Given the description of an element on the screen output the (x, y) to click on. 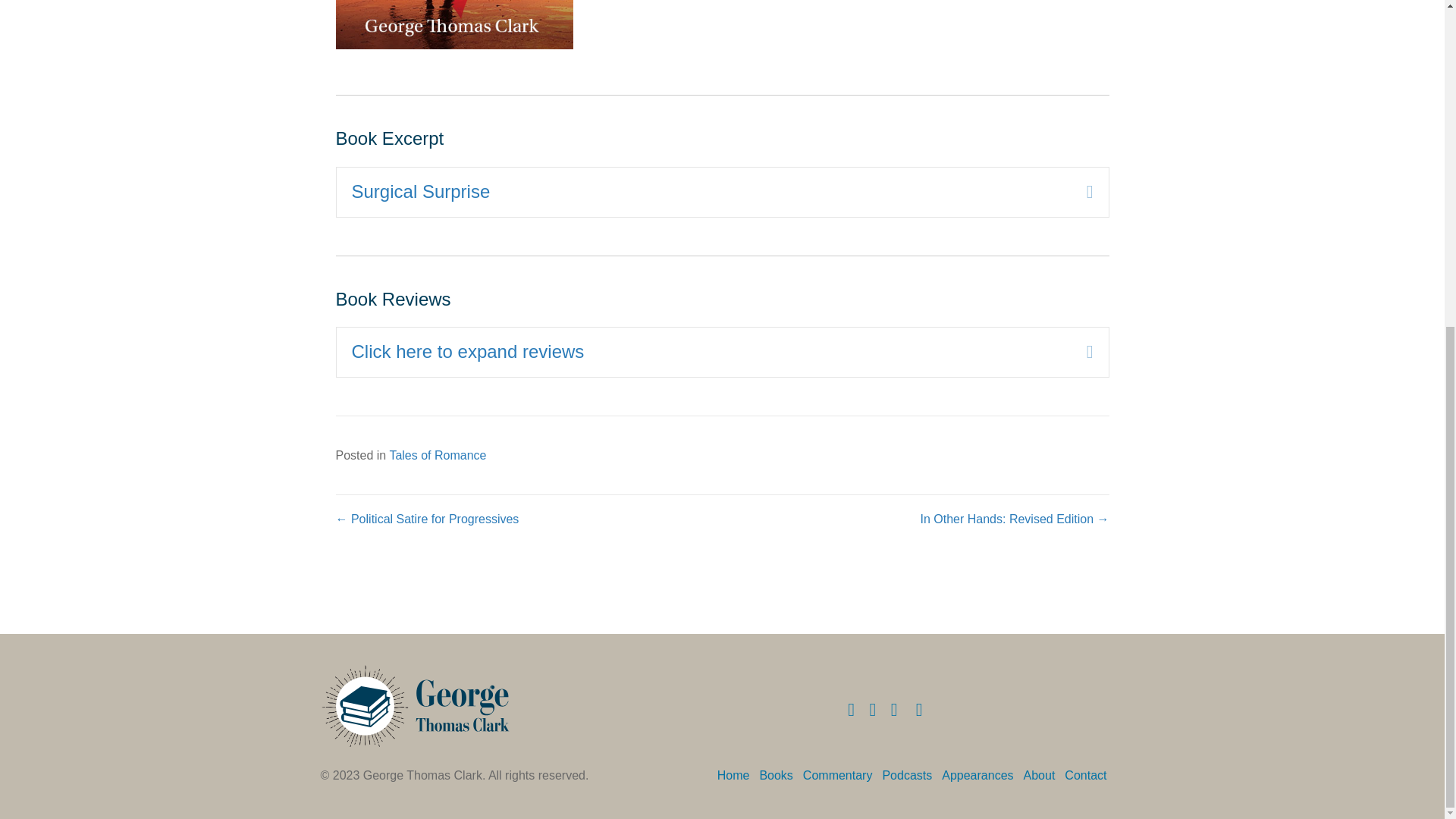
About (1043, 775)
Commentary (842, 775)
Tales of Romance (437, 454)
Expand (1078, 352)
logo (414, 705)
Contact (1089, 775)
Expand (1078, 192)
Podcasts (911, 775)
Click here to expand reviews (708, 352)
Tales of Romance - web (453, 24)
Books (780, 775)
Surgical Surprise (708, 192)
Appearances (982, 775)
Home (737, 775)
